Given the description of an element on the screen output the (x, y) to click on. 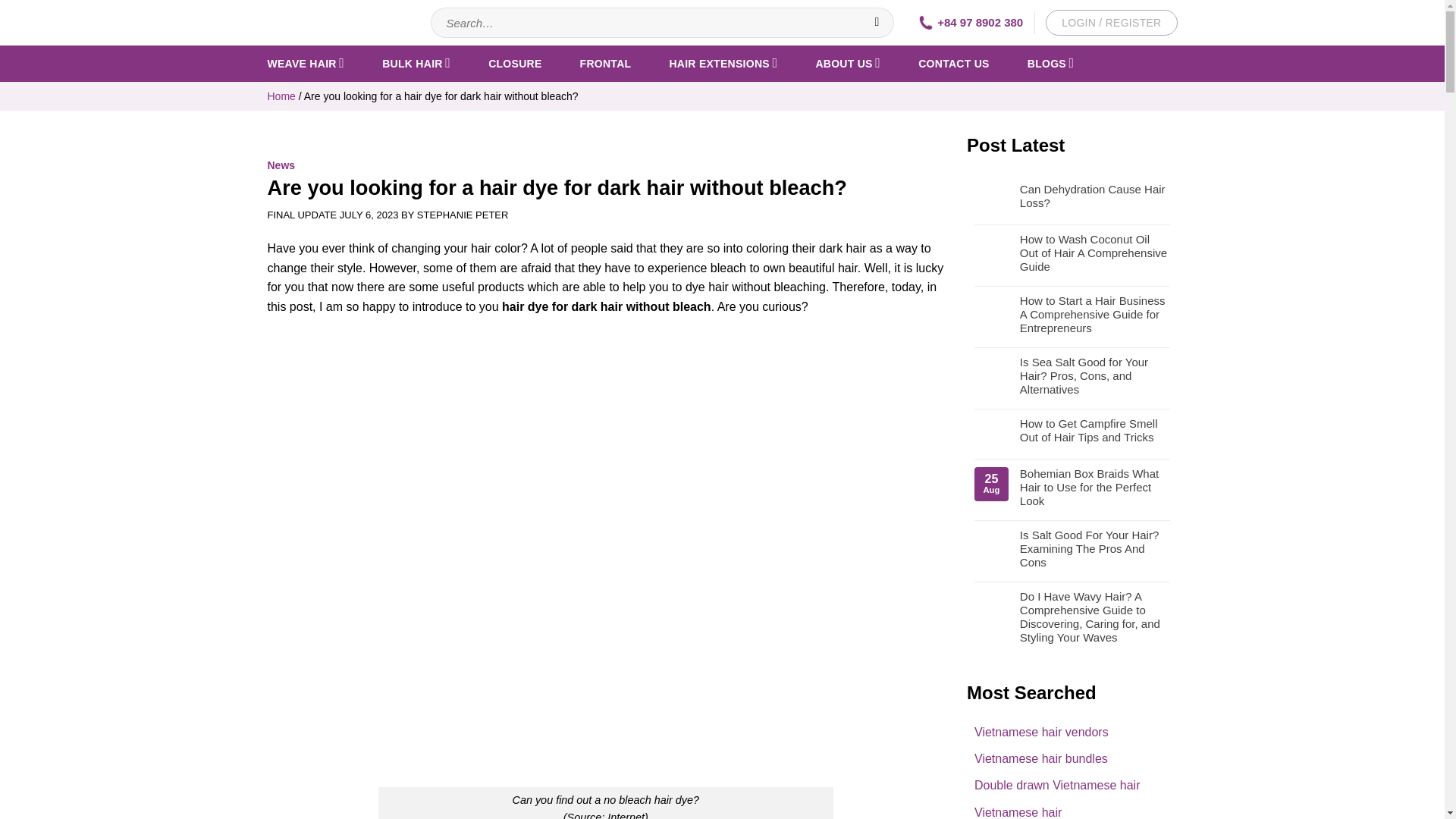
ABOUT US (847, 63)
News (280, 164)
CONTACT US (954, 62)
FRONTAL (605, 62)
Home (280, 96)
HAIR EXTENSIONS (722, 63)
BULK HAIR (415, 63)
BLOGS (1050, 63)
Belady Hair Factory - Raw Wholesale Hair Vendors (336, 22)
WEAVE HAIR (304, 63)
